Given the description of an element on the screen output the (x, y) to click on. 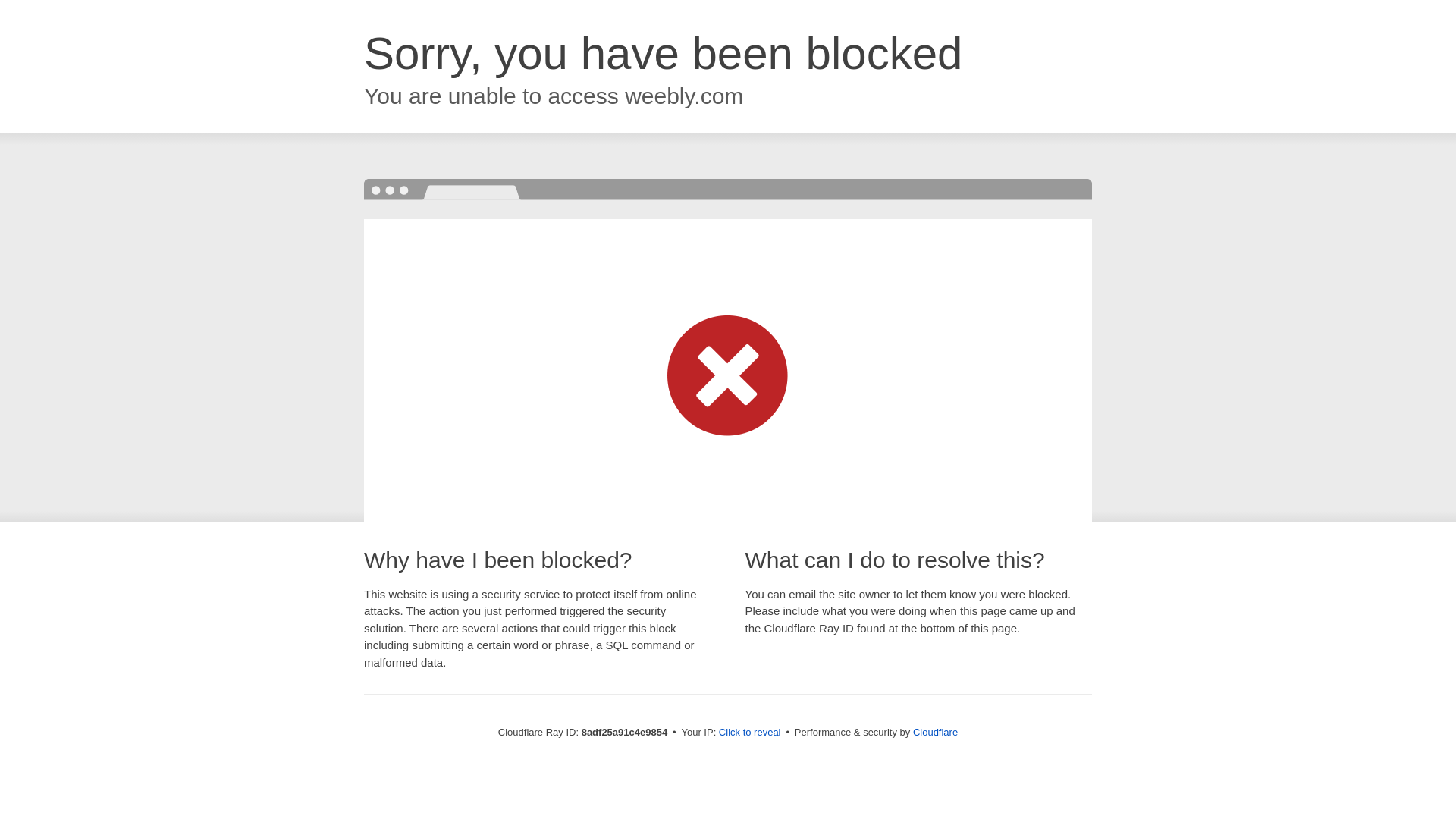
Cloudflare (935, 731)
Click to reveal (749, 732)
